Given the description of an element on the screen output the (x, y) to click on. 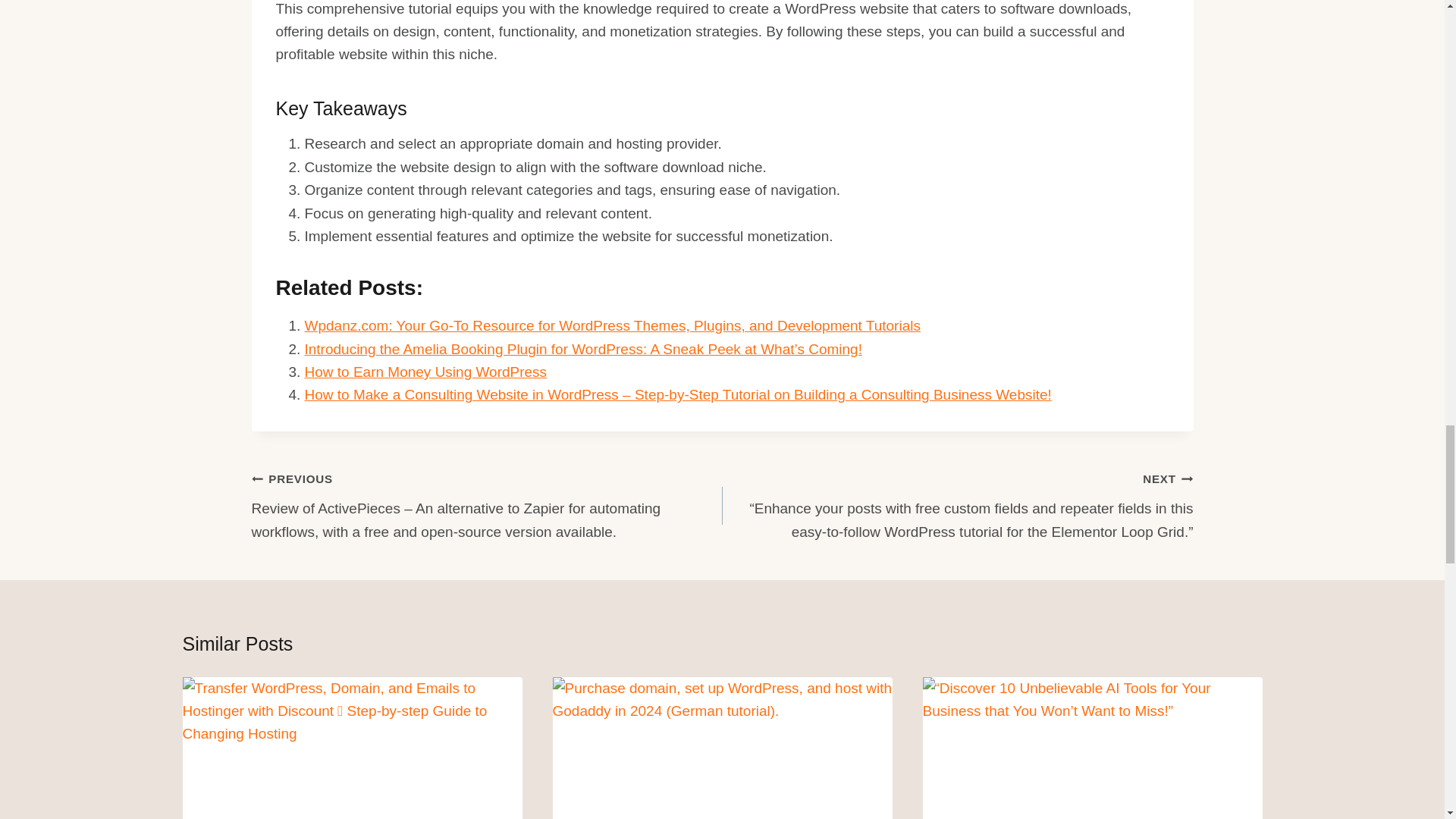
How to Earn Money Using WordPress (425, 371)
How to Earn Money Using WordPress (425, 371)
